Given the description of an element on the screen output the (x, y) to click on. 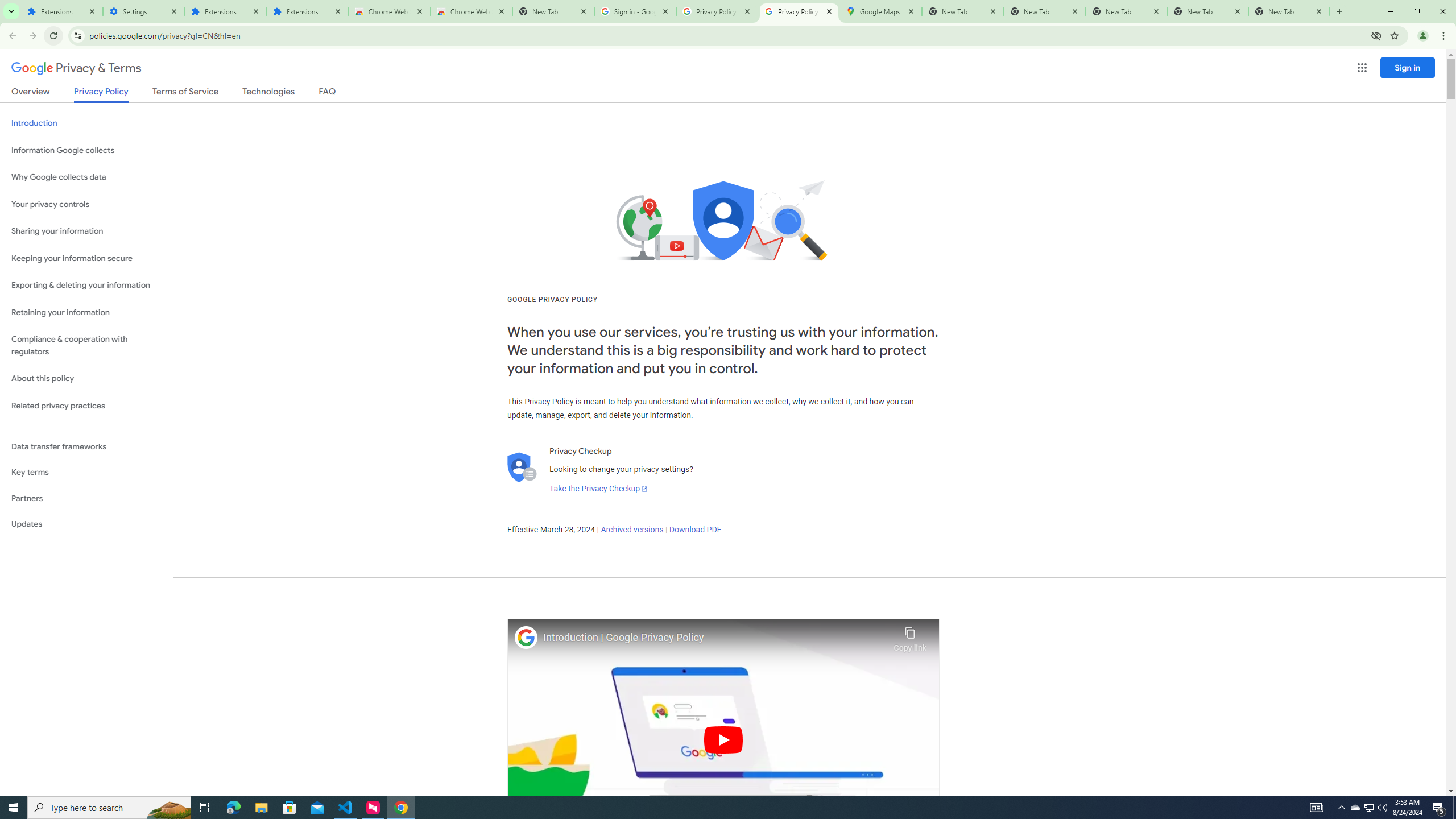
Extensions (307, 11)
Extensions (225, 11)
Download PDF (695, 529)
Retaining your information (86, 312)
Copy link (909, 636)
Sign in - Google Accounts (635, 11)
Introduction | Google Privacy Policy (715, 637)
Keeping your information secure (86, 258)
Compliance & cooperation with regulators (86, 345)
